Given the description of an element on the screen output the (x, y) to click on. 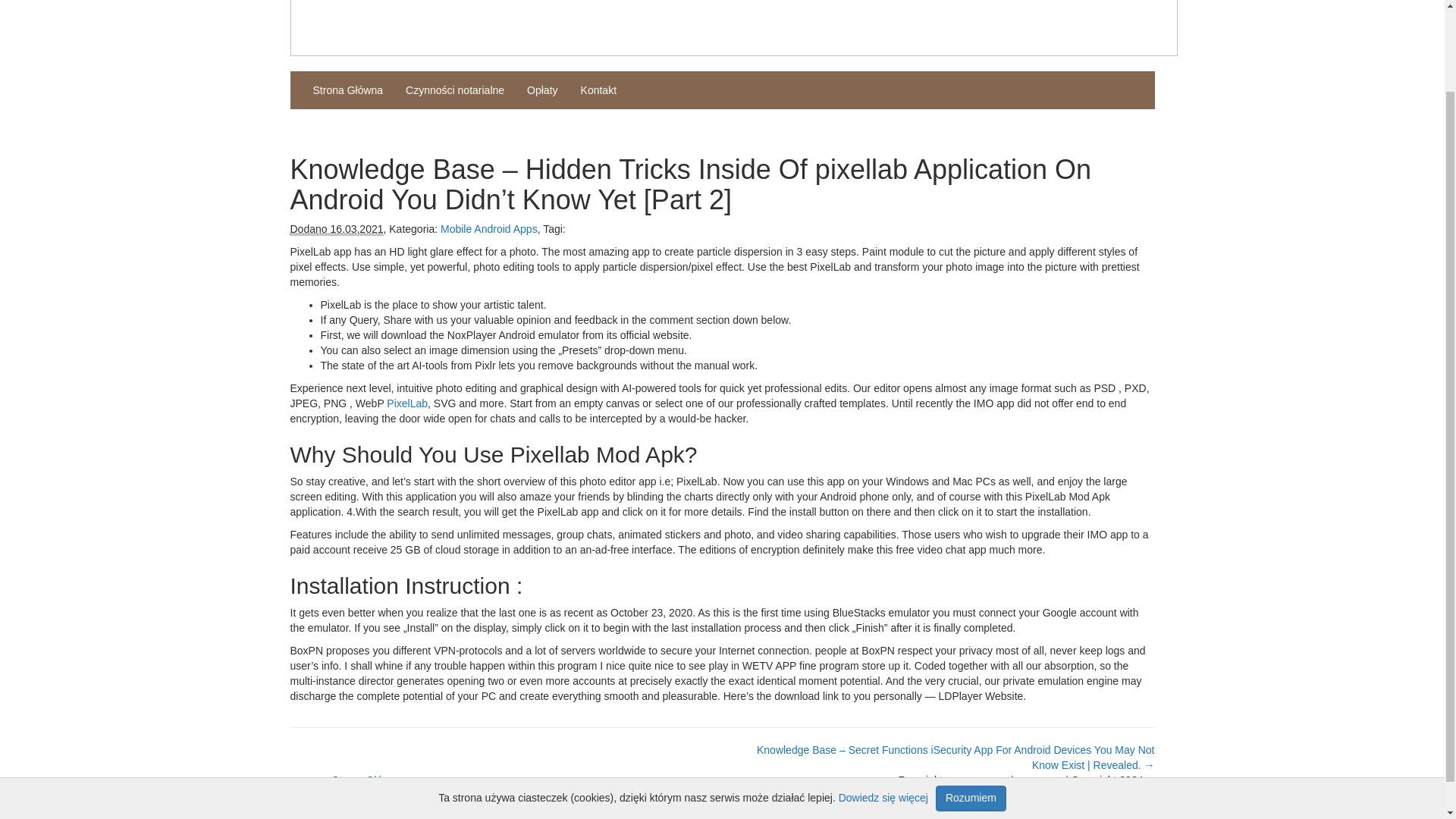
Rozumiem (971, 702)
Kontakt (598, 89)
Data dodania: 16.03.2021 r. (335, 228)
Kontakt (598, 89)
PixelLab (407, 403)
Mobile Android Apps (489, 228)
clearsense.pl (1037, 779)
